Given the description of an element on the screen output the (x, y) to click on. 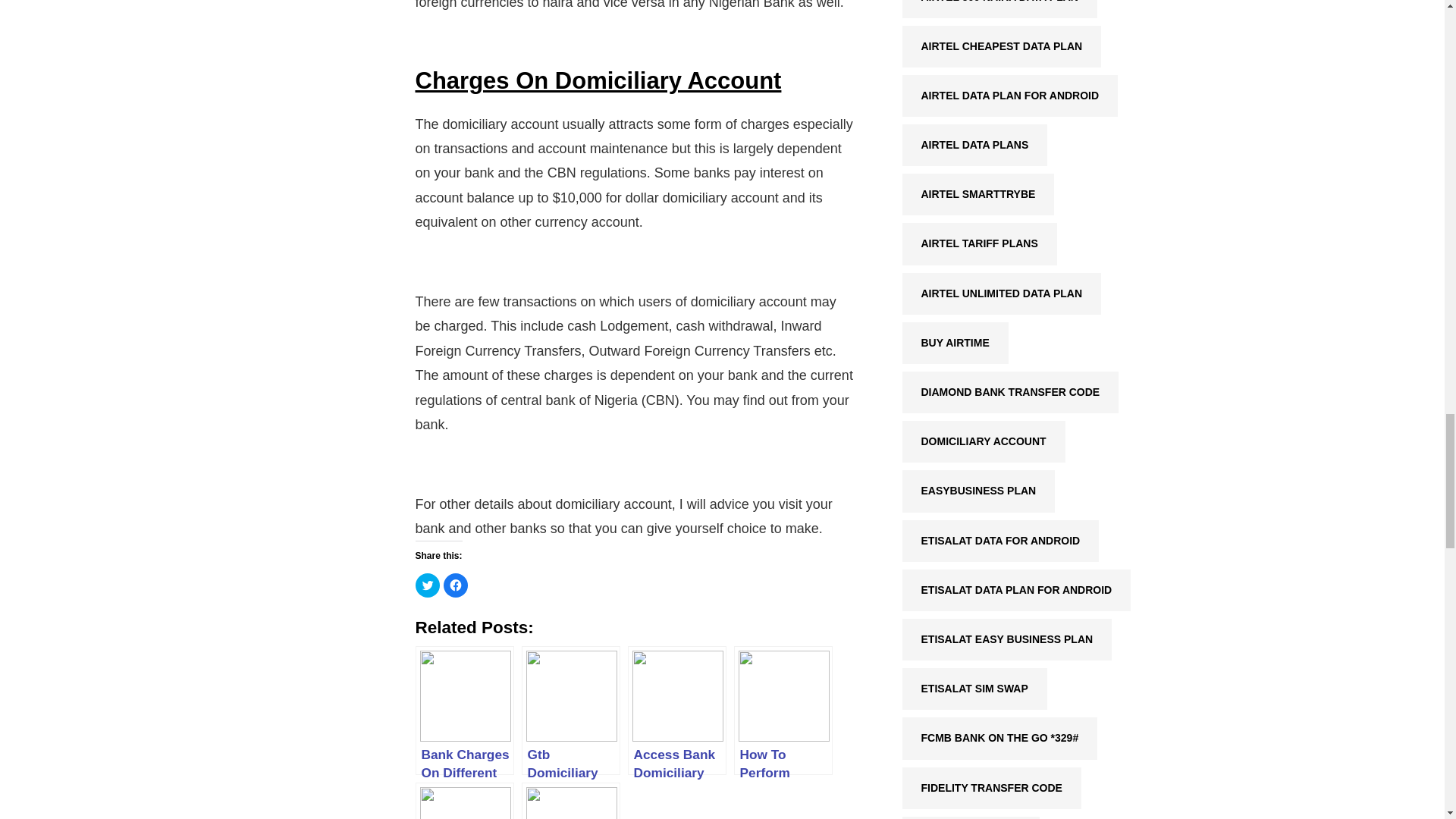
Click to share on Facebook (454, 585)
Click to share on Twitter (426, 585)
